Given the description of an element on the screen output the (x, y) to click on. 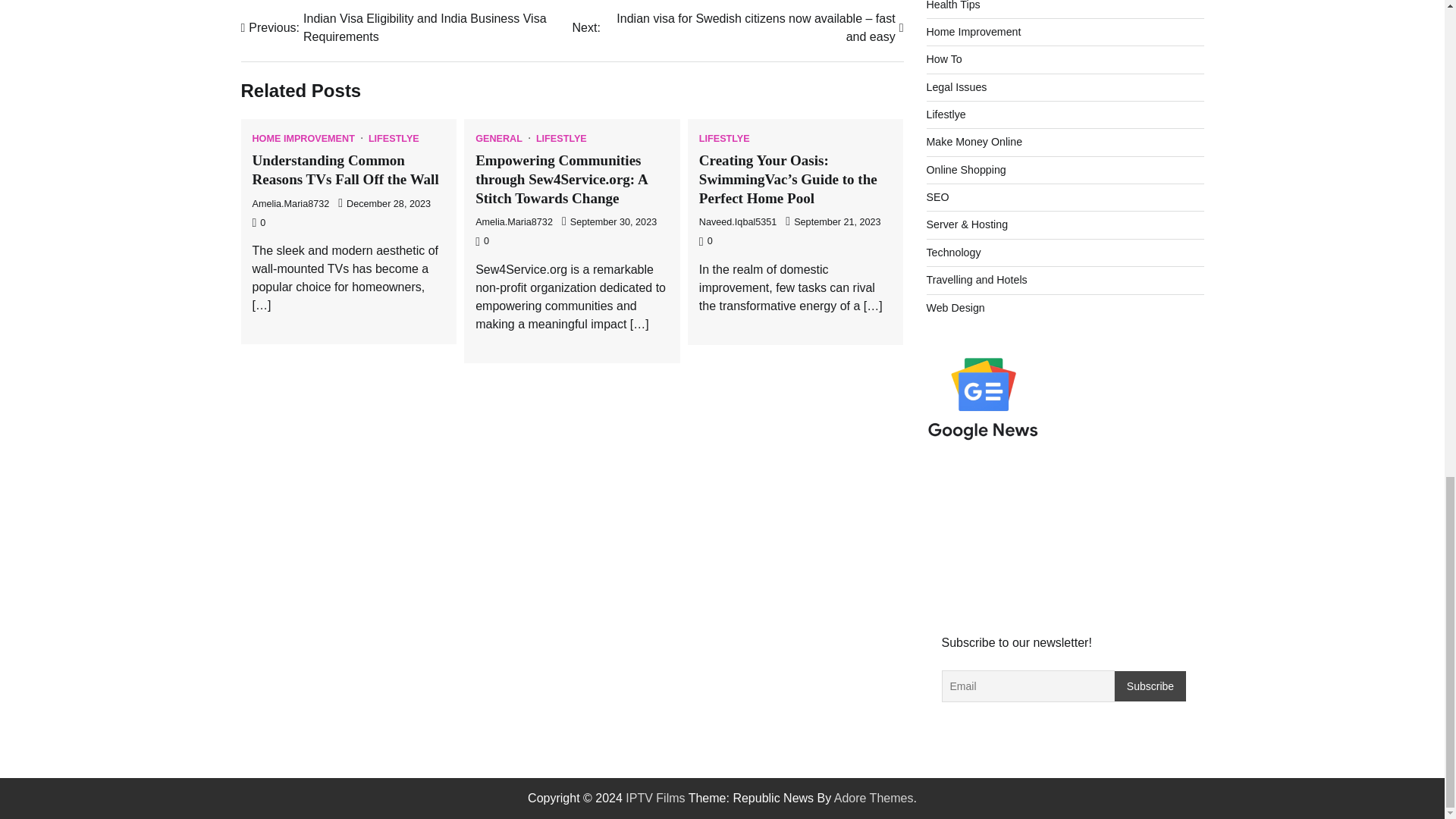
Subscribe (1150, 685)
